Given the description of an element on the screen output the (x, y) to click on. 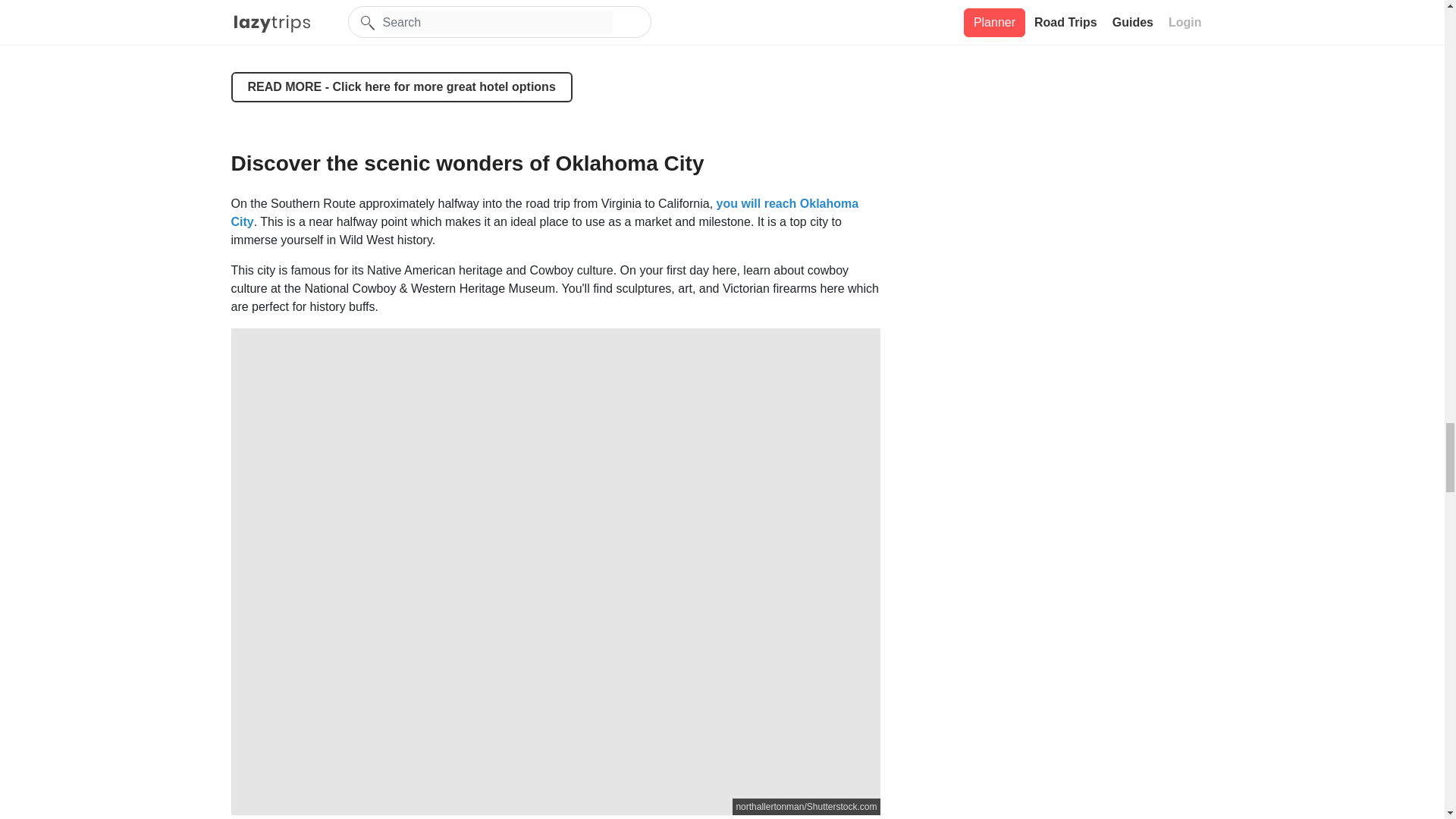
you will reach Oklahoma City (544, 212)
READ MORE - Click here for more great hotel options (401, 87)
